Given the description of an element on the screen output the (x, y) to click on. 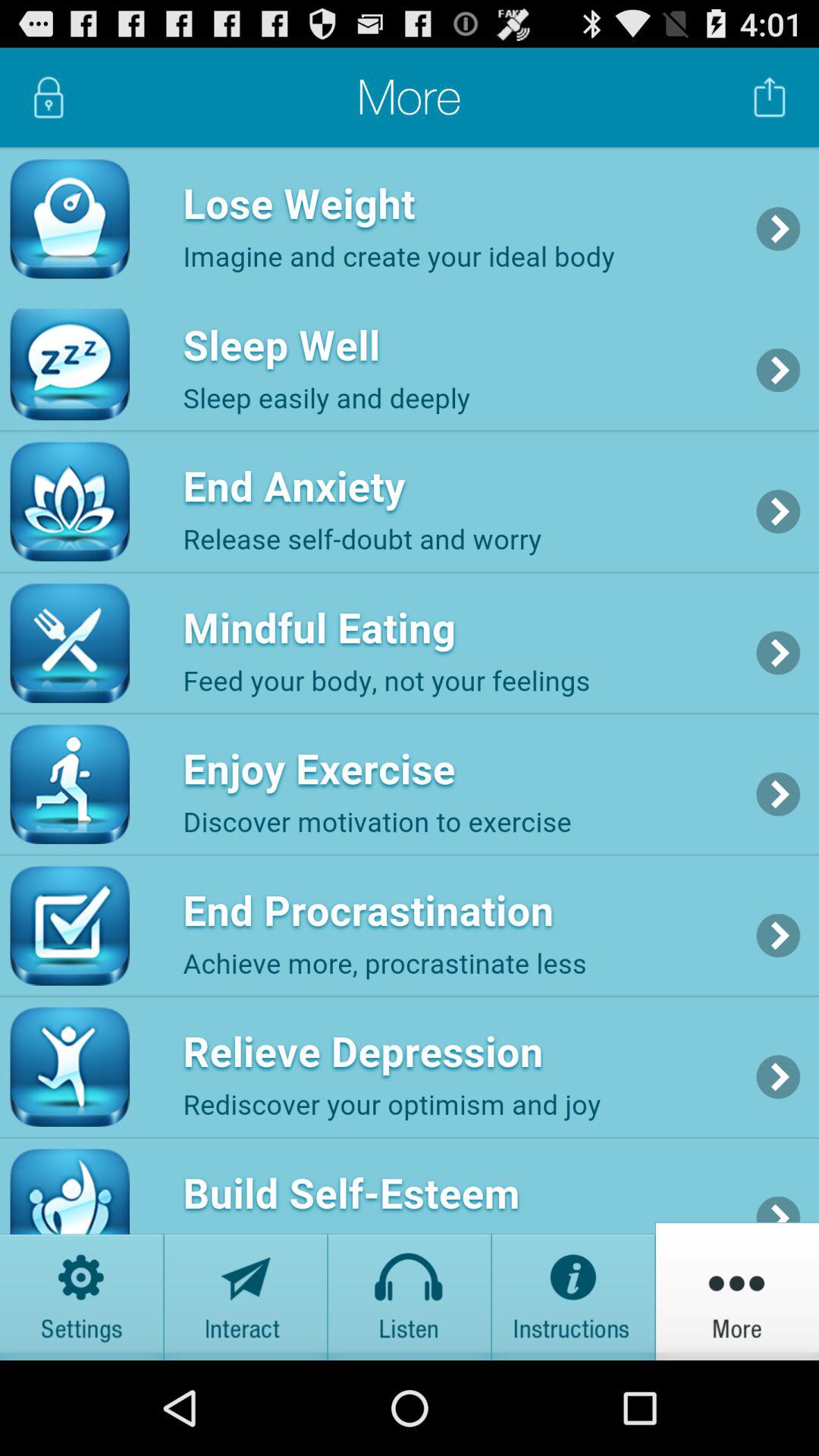
click to listen (409, 1290)
